Given the description of an element on the screen output the (x, y) to click on. 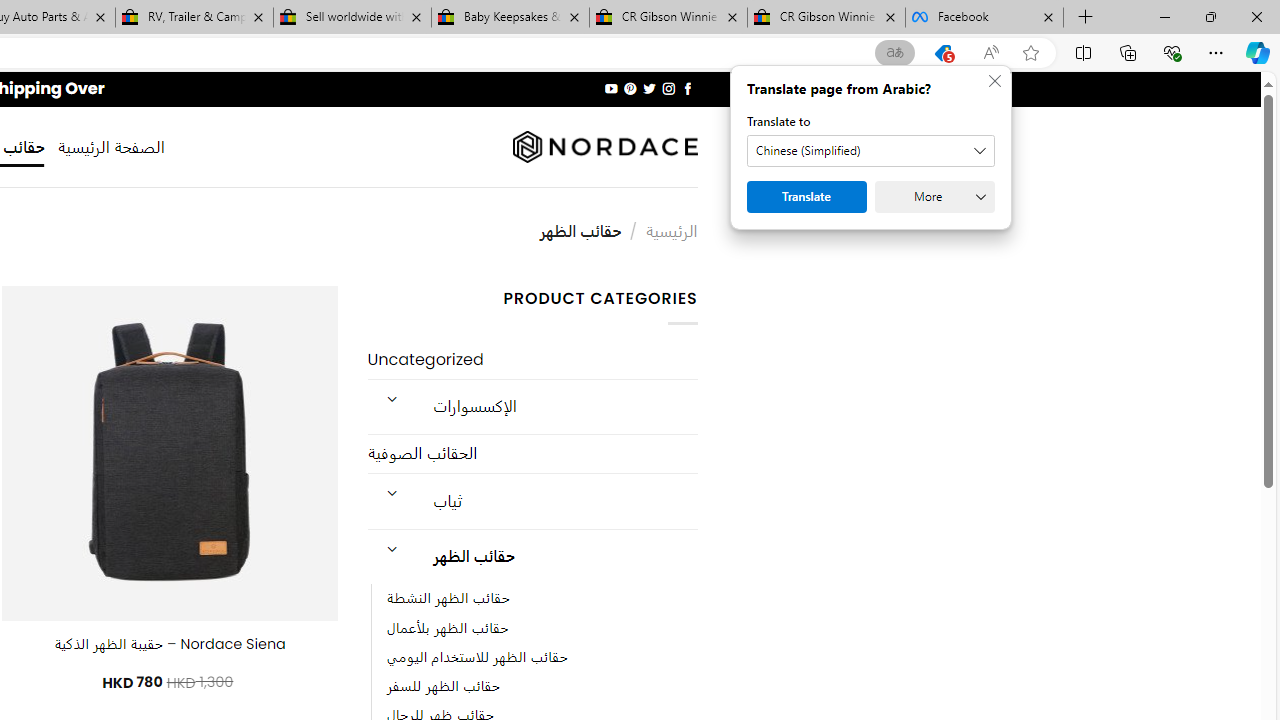
Uncategorized (532, 359)
Translate (806, 196)
Uncategorized (532, 359)
